Given the description of an element on the screen output the (x, y) to click on. 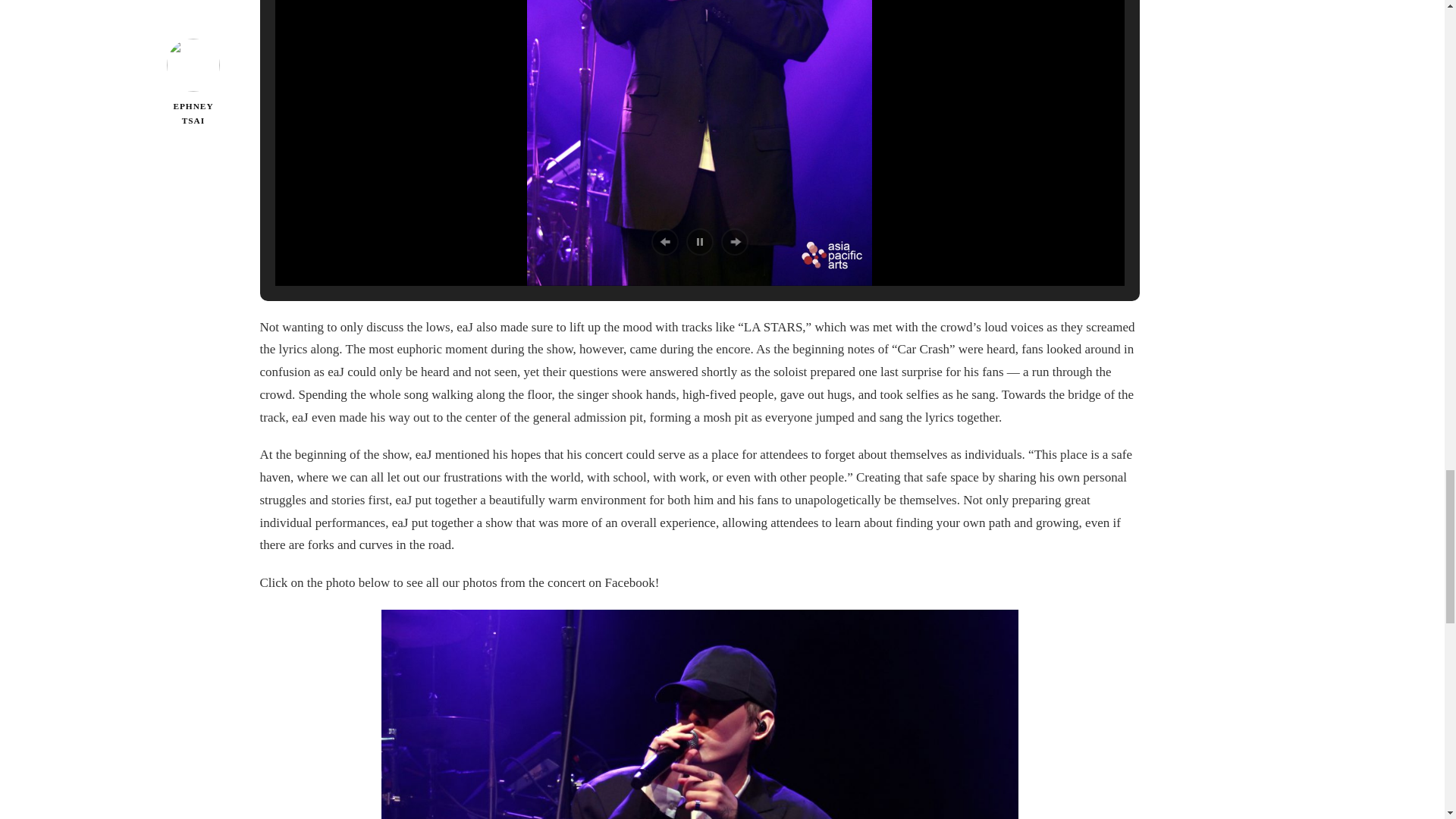
eaJ (699, 142)
